Given the description of an element on the screen output the (x, y) to click on. 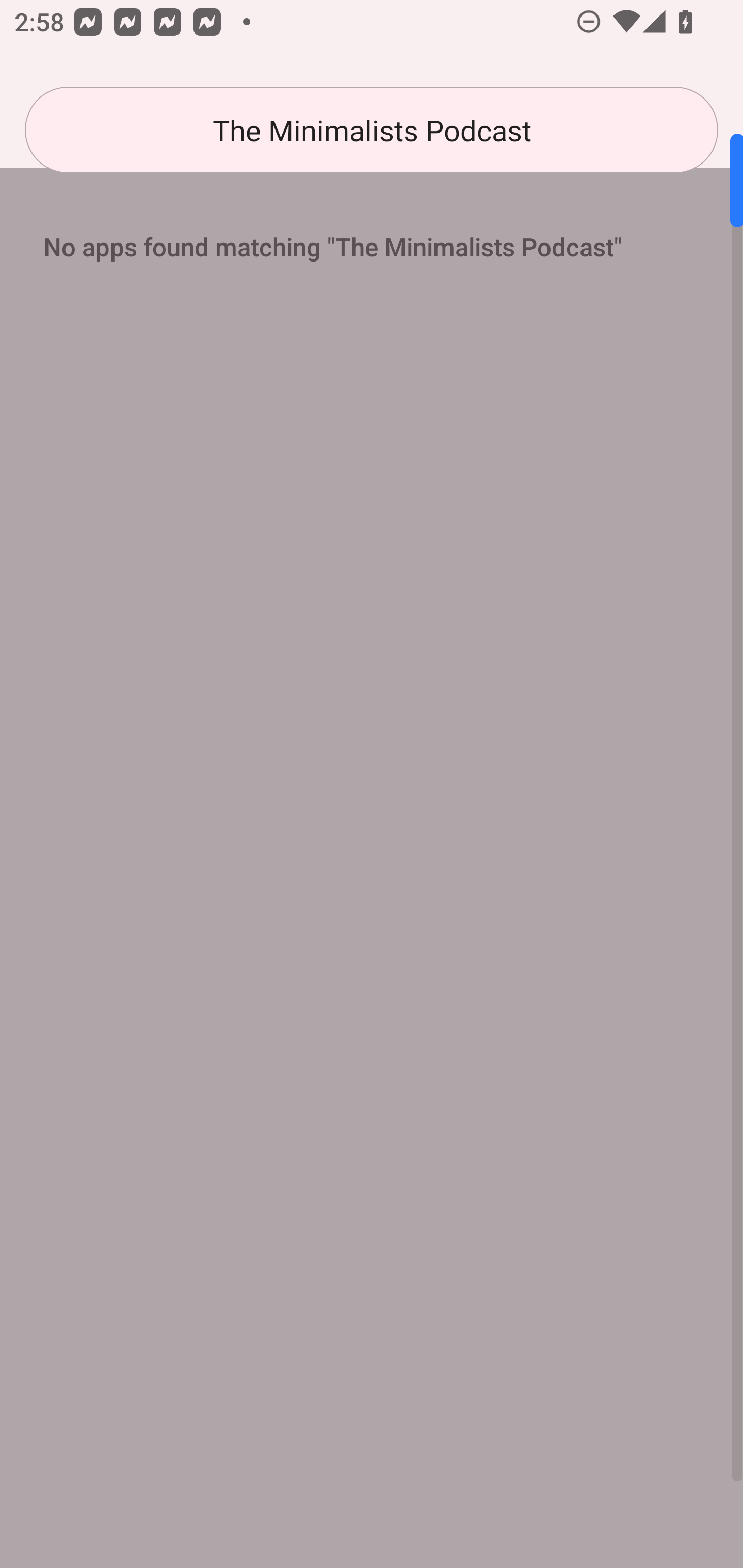
The Minimalists Podcast (371, 130)
